Given the description of an element on the screen output the (x, y) to click on. 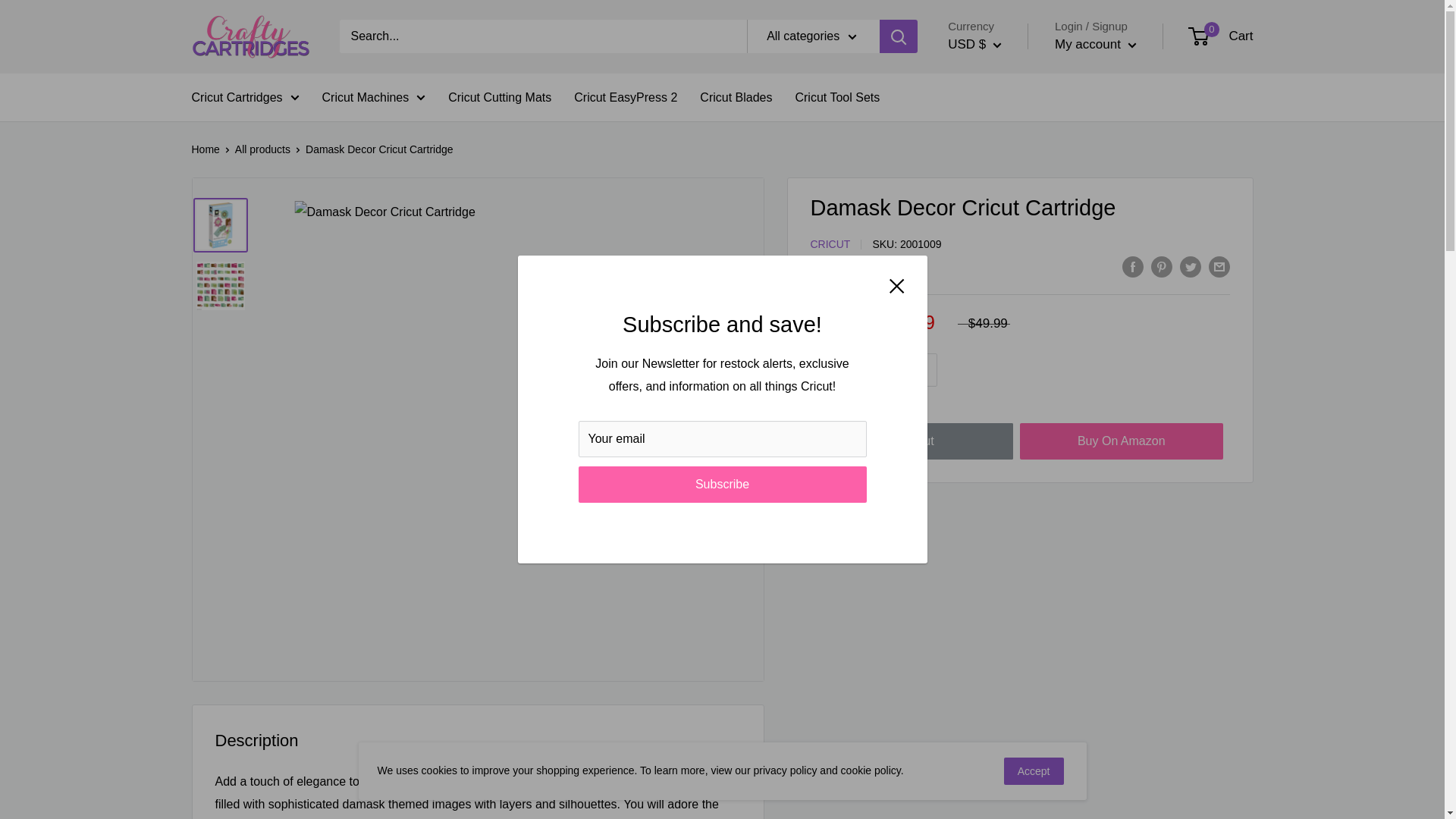
Subscribe (722, 484)
